Given the description of an element on the screen output the (x, y) to click on. 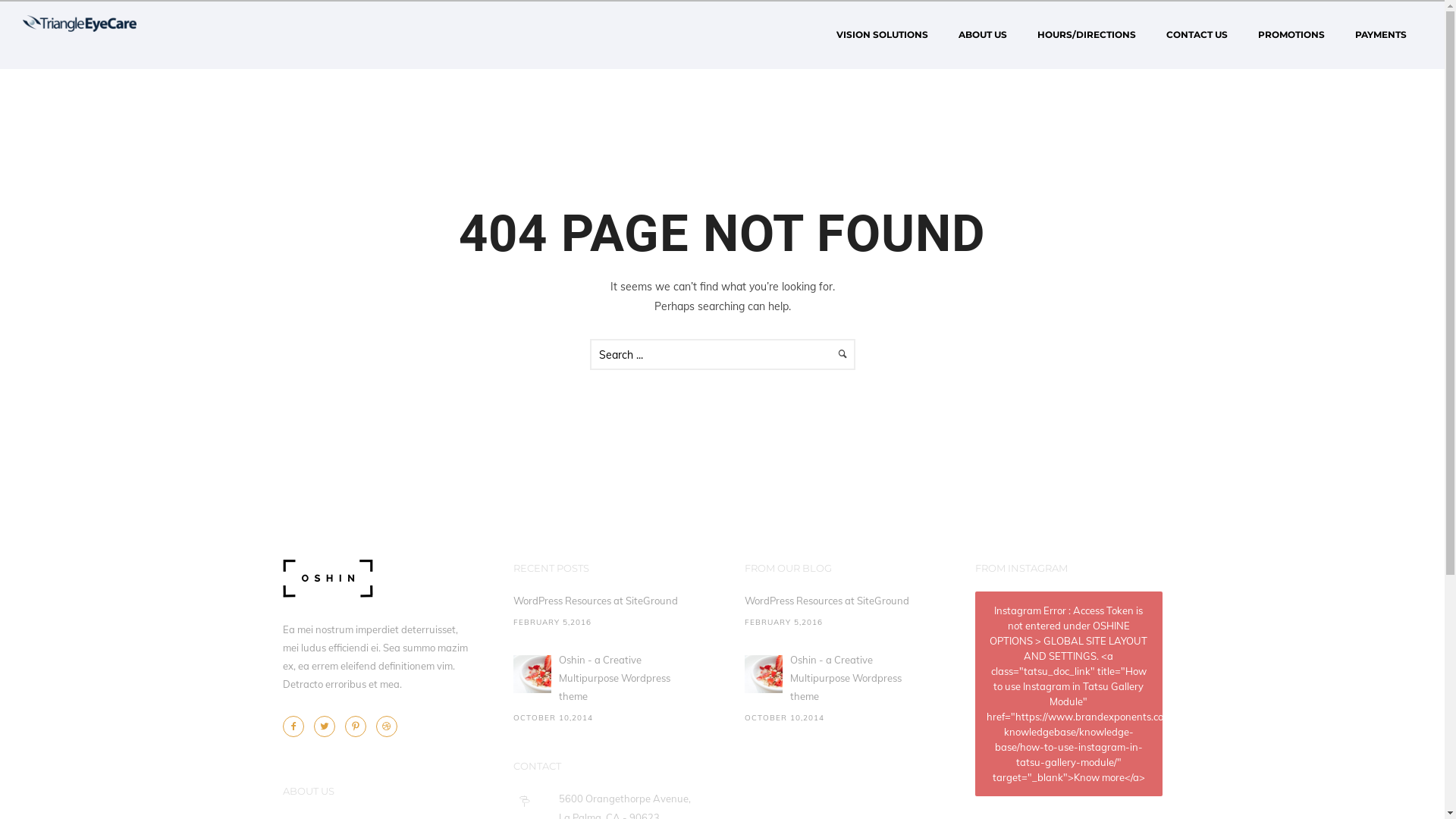
WordPress Resources at SiteGround Element type: text (606, 600)
Oshin - a Creative Multipurpose Wordpress theme Element type: hover (763, 674)
PROMOTIONS Element type: text (1290, 34)
ABOUT US Element type: text (982, 34)
WordPress Resources at SiteGround Element type: text (837, 600)
HOURS/DIRECTIONS Element type: text (1086, 34)
CONTACT US Element type: text (1196, 34)
VISION SOLUTIONS Element type: text (882, 34)
Oshin - a Creative Multipurpose Wordpress theme Element type: text (606, 677)
Oshin - a Creative Multipurpose Wordpress theme Element type: hover (532, 674)
Oshin - a Creative Multipurpose Wordpress theme Element type: text (837, 677)
PAYMENTS Element type: text (1380, 34)
